Given the description of an element on the screen output the (x, y) to click on. 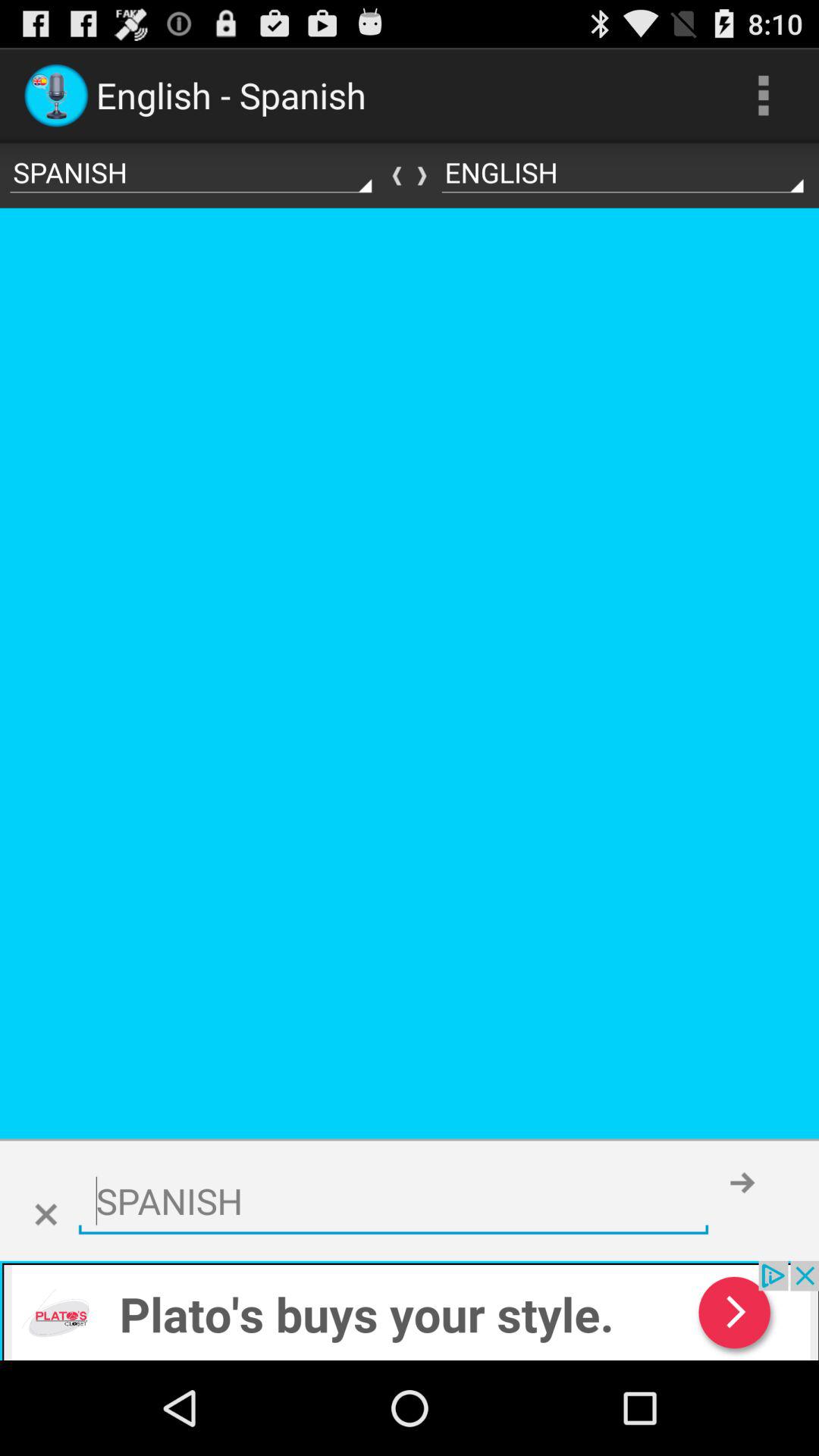
choose the language (393, 1201)
